Given the description of an element on the screen output the (x, y) to click on. 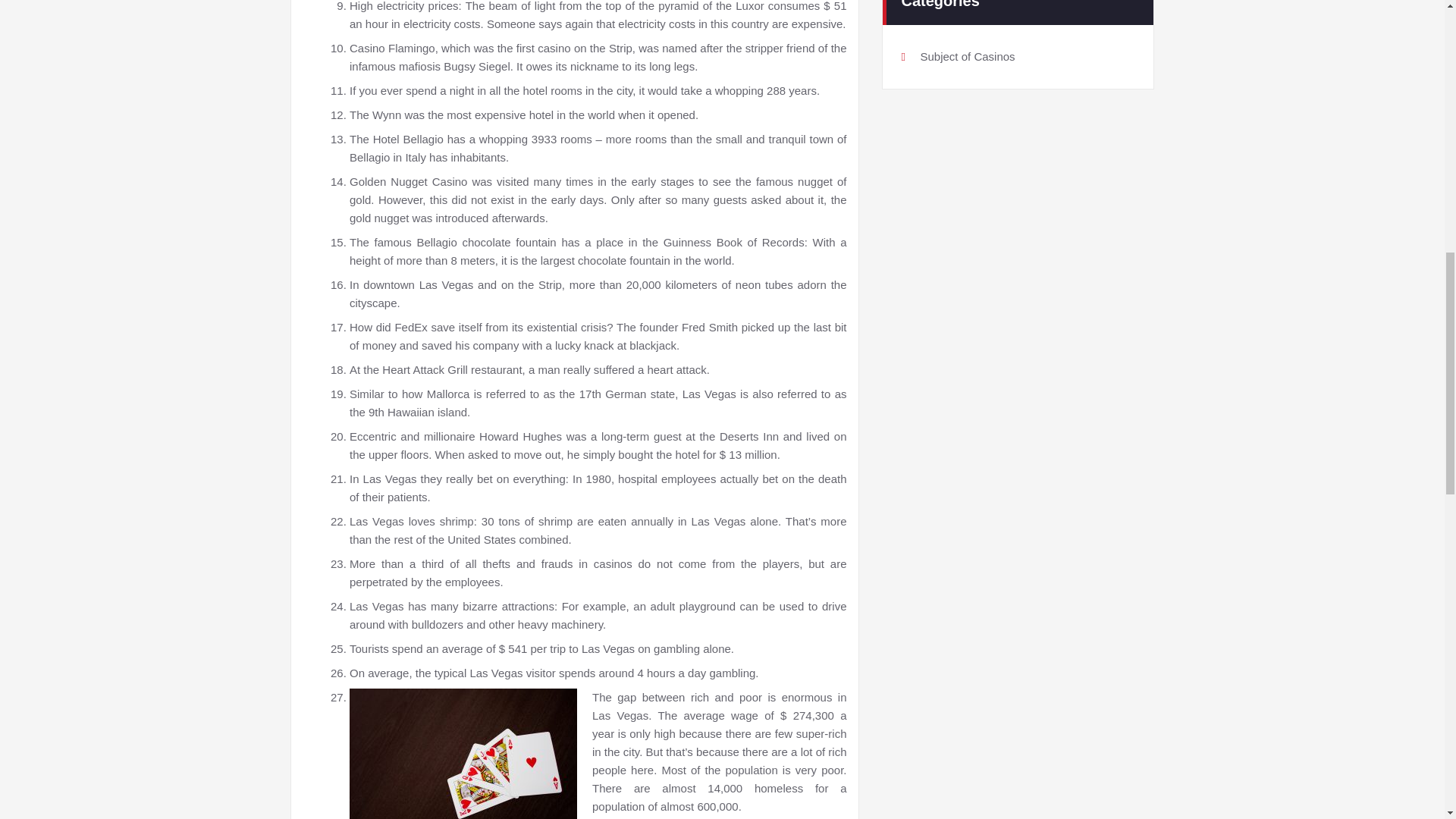
Subject of Casinos (967, 53)
